Given the description of an element on the screen output the (x, y) to click on. 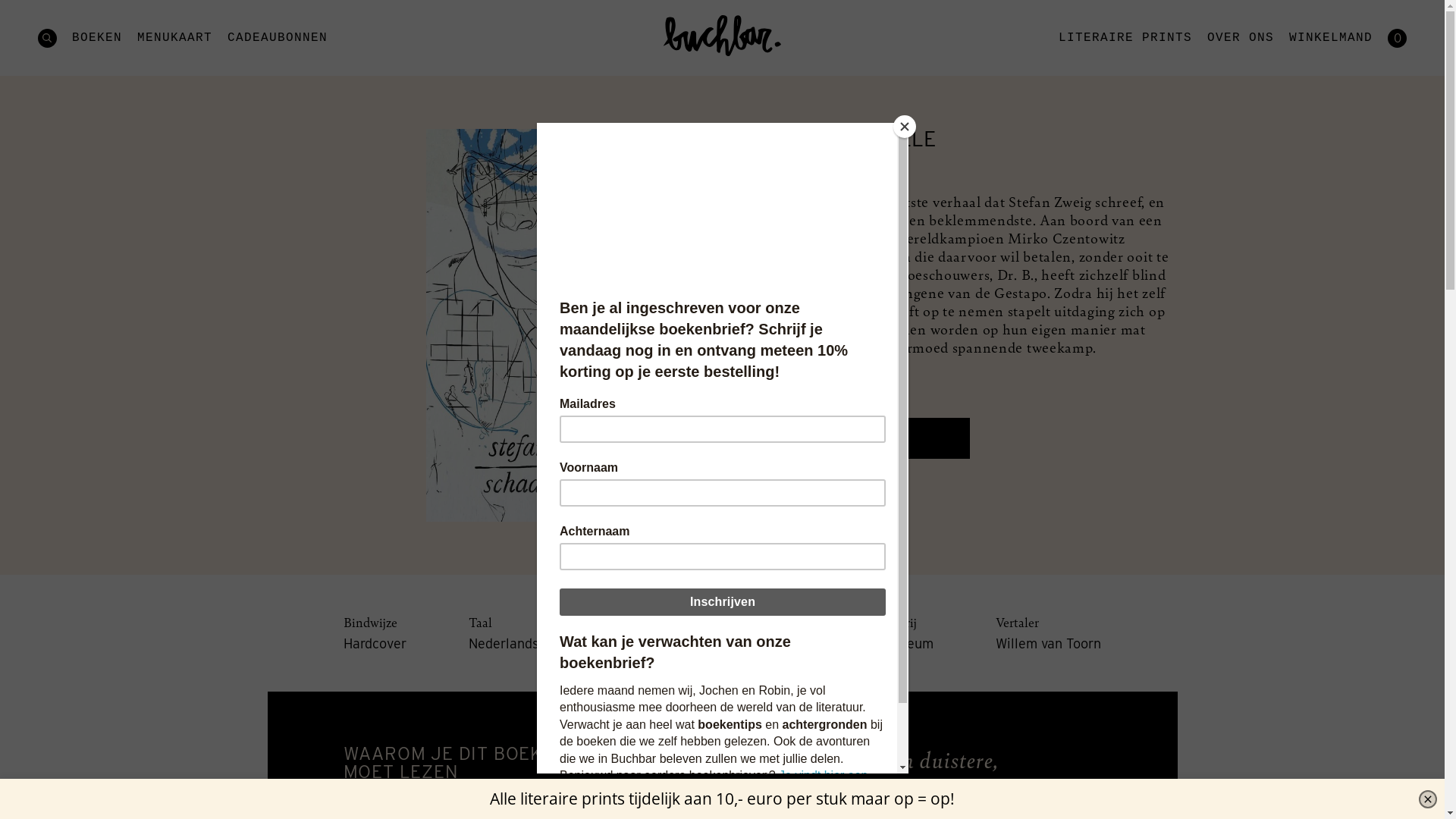
0 Element type: text (1396, 37)
OVER ONS Element type: text (1240, 37)
MENUKAART Element type: text (174, 37)
WINKELMAND Element type: text (1330, 37)
LITERAIRE PRINTS Element type: text (1125, 37)
BOEKEN Element type: text (97, 37)
BESTEL Element type: text (864, 437)
CADEAUBONNEN Element type: text (277, 37)
